Given the description of an element on the screen output the (x, y) to click on. 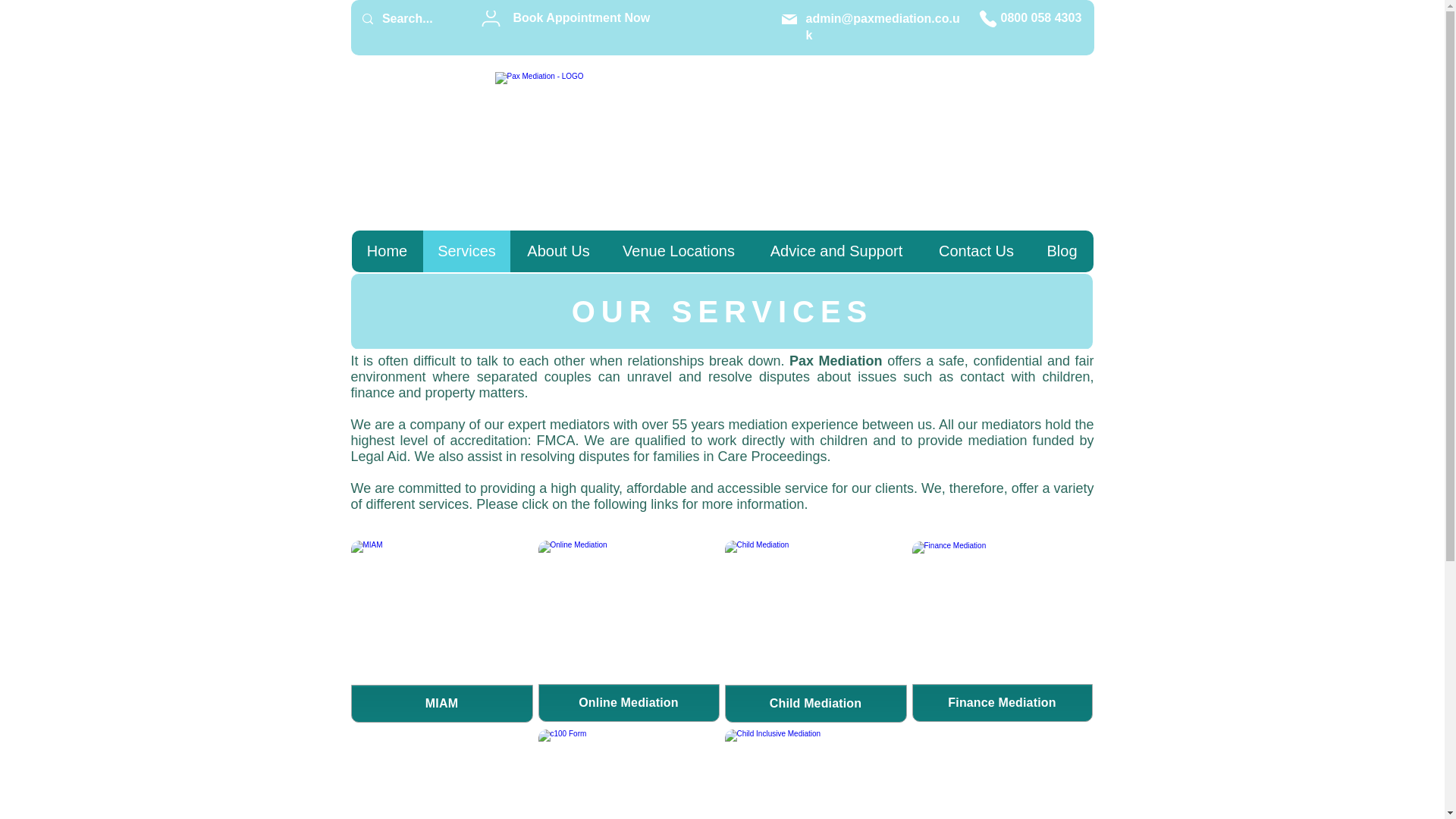
Legal advice (628, 631)
0800 058 4303 (1041, 17)
Family Mediation (441, 631)
Family Mediation (629, 774)
Home (387, 250)
Online MIAM (816, 631)
Book Appointment Now (580, 17)
About Us (557, 250)
Family Mediation (816, 774)
Services (467, 250)
Online mediation (1002, 631)
Venue Locations (679, 250)
